Given the description of an element on the screen output the (x, y) to click on. 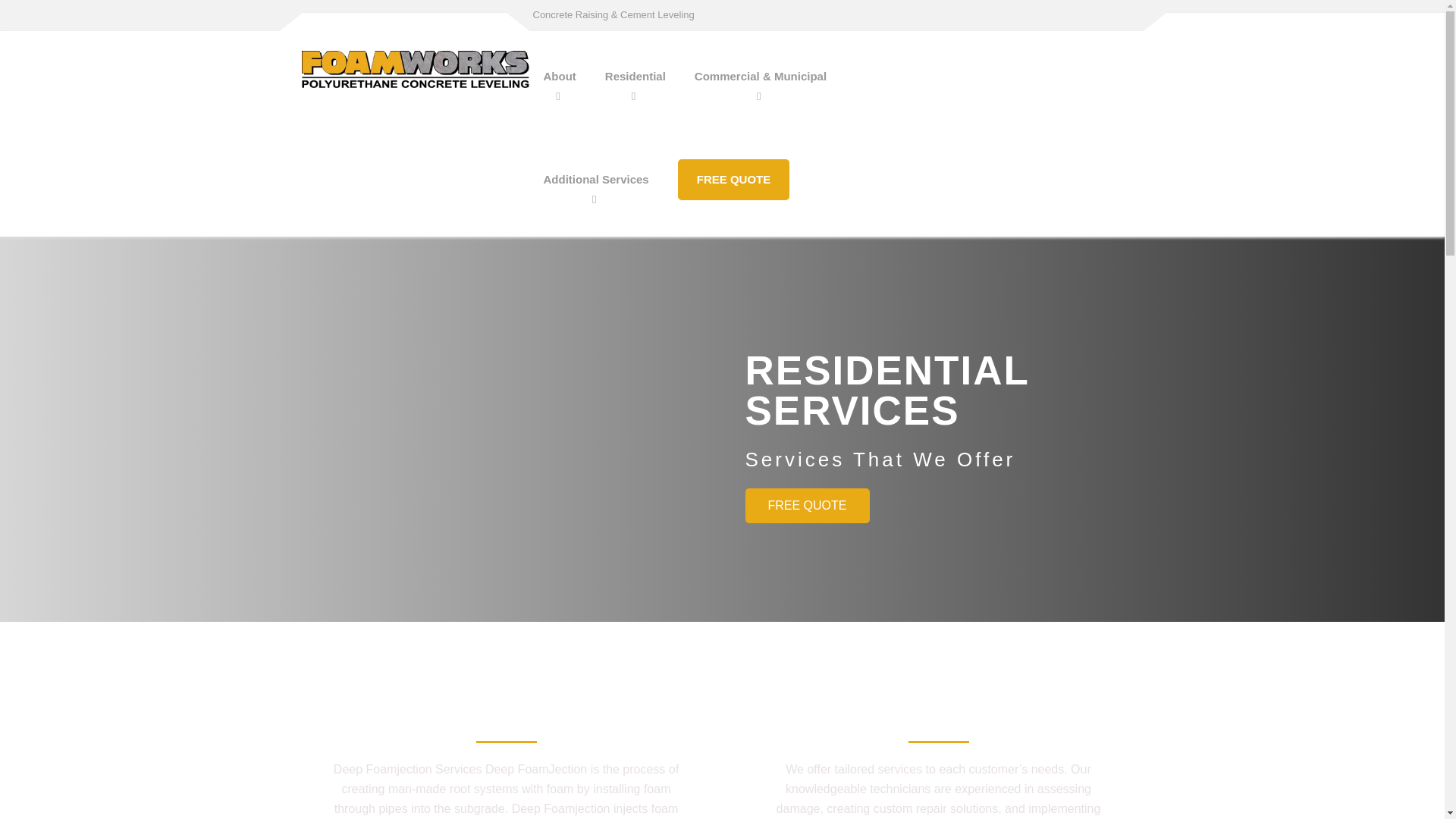
Additional Services (596, 178)
Residential (635, 76)
